Given the description of an element on the screen output the (x, y) to click on. 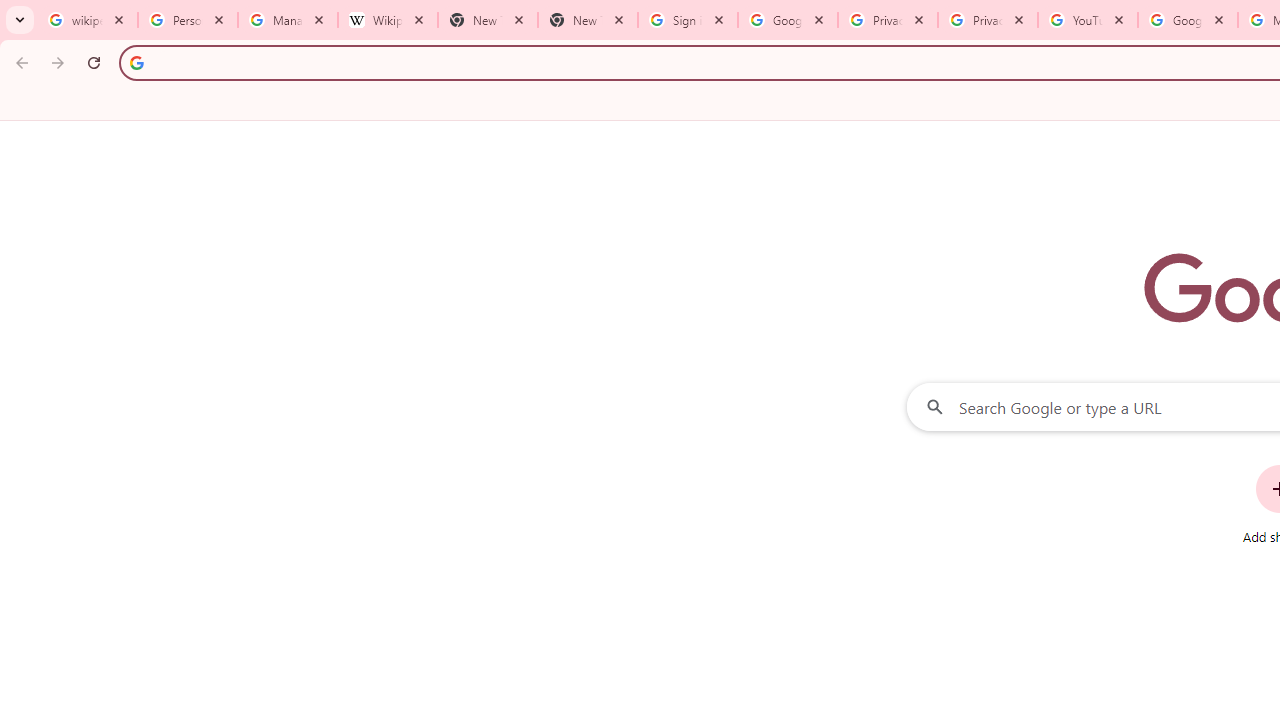
Google Account Help (1187, 20)
Manage your Location History - Google Search Help (287, 20)
Google Drive: Sign-in (788, 20)
Sign in - Google Accounts (687, 20)
New Tab (487, 20)
